Given the description of an element on the screen output the (x, y) to click on. 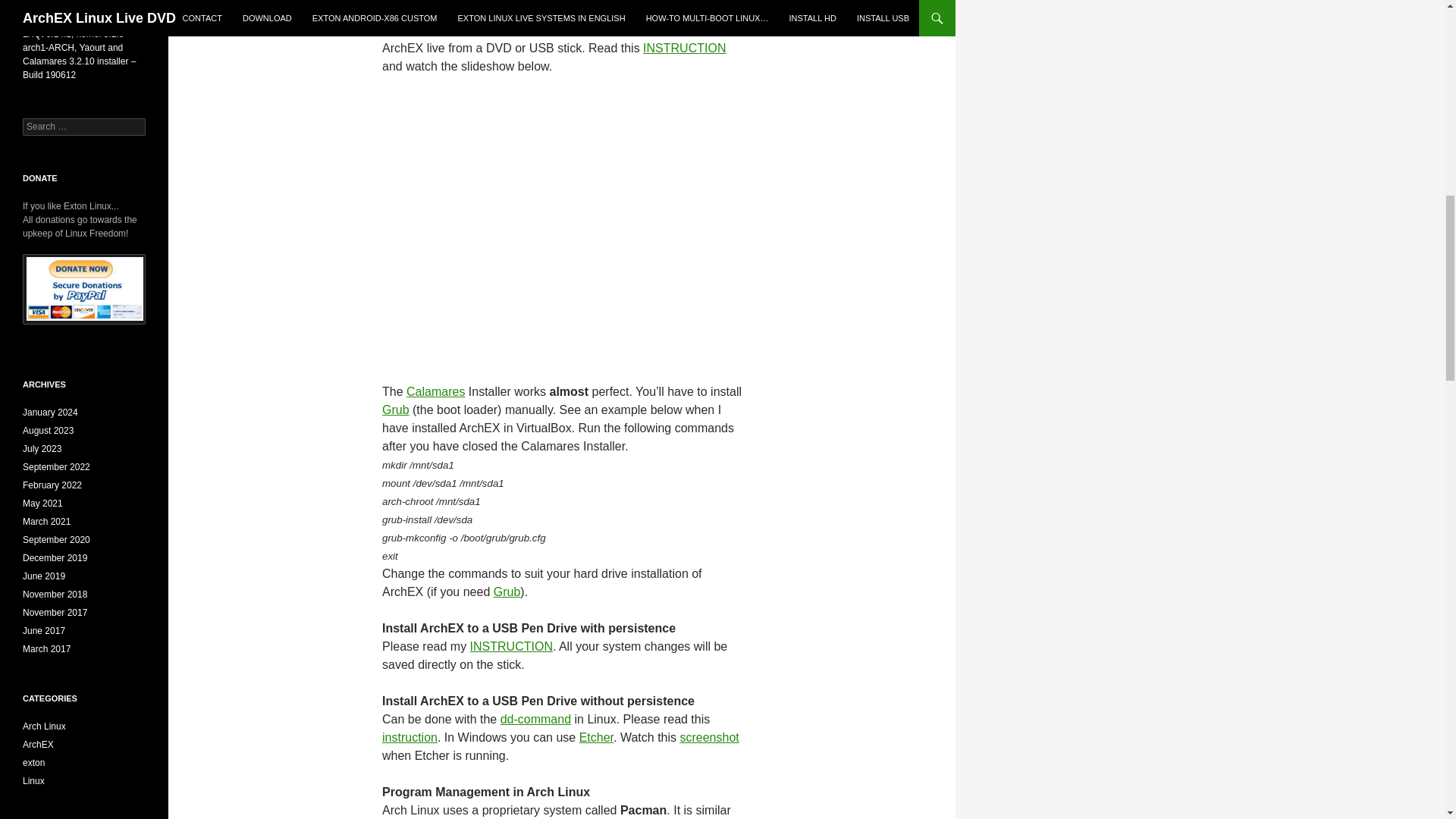
Grub (395, 409)
INSTRUCTION (684, 47)
Calamares (579, 29)
Calamares (435, 391)
screenshot (708, 737)
instruction (409, 737)
Etcher (595, 737)
INSTRUCTION (511, 645)
dd-command (535, 718)
Grub (507, 591)
